Given the description of an element on the screen output the (x, y) to click on. 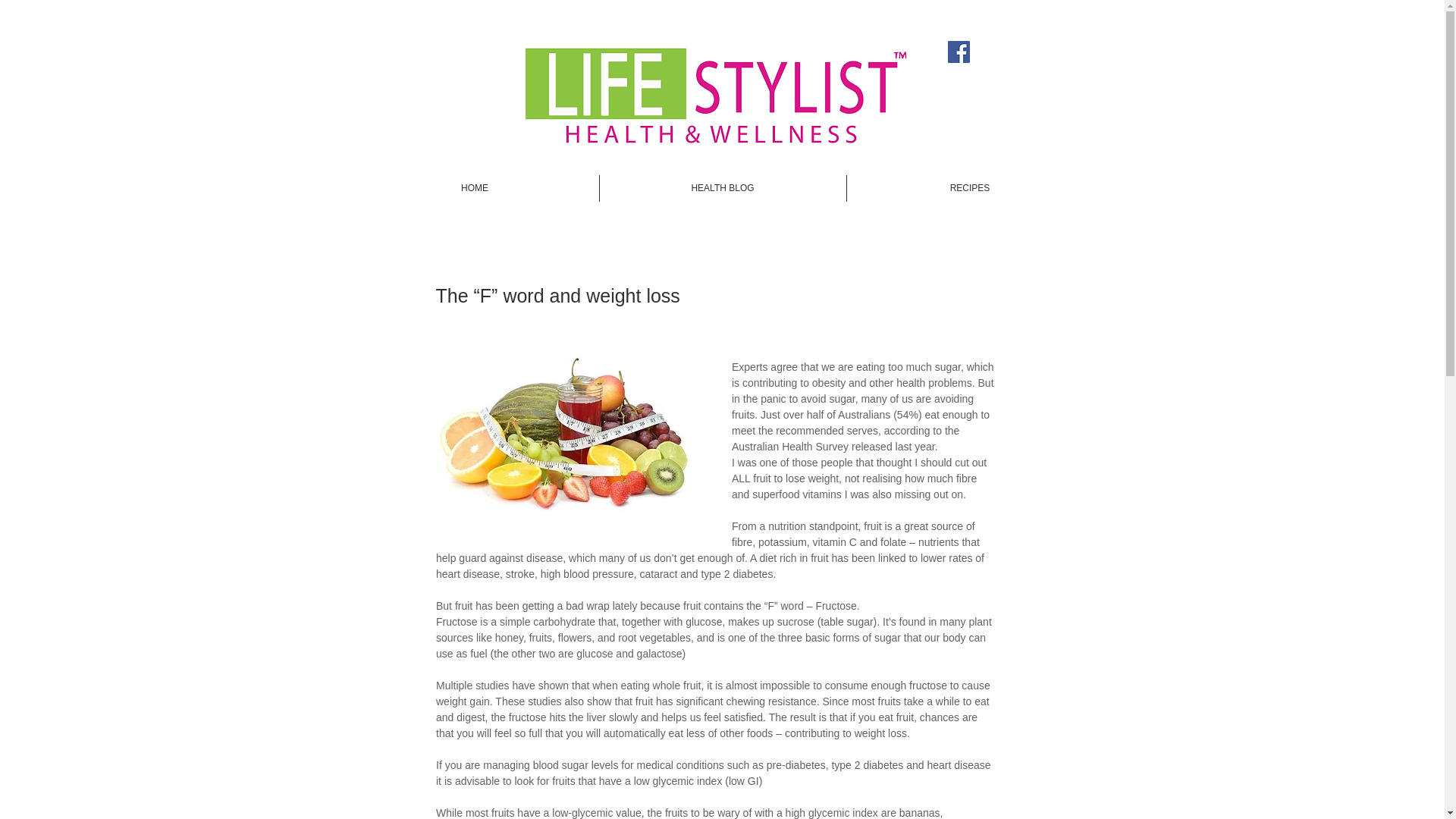
HOME (474, 188)
HEALTH BLOG (721, 188)
RECIPES (969, 188)
